Given the description of an element on the screen output the (x, y) to click on. 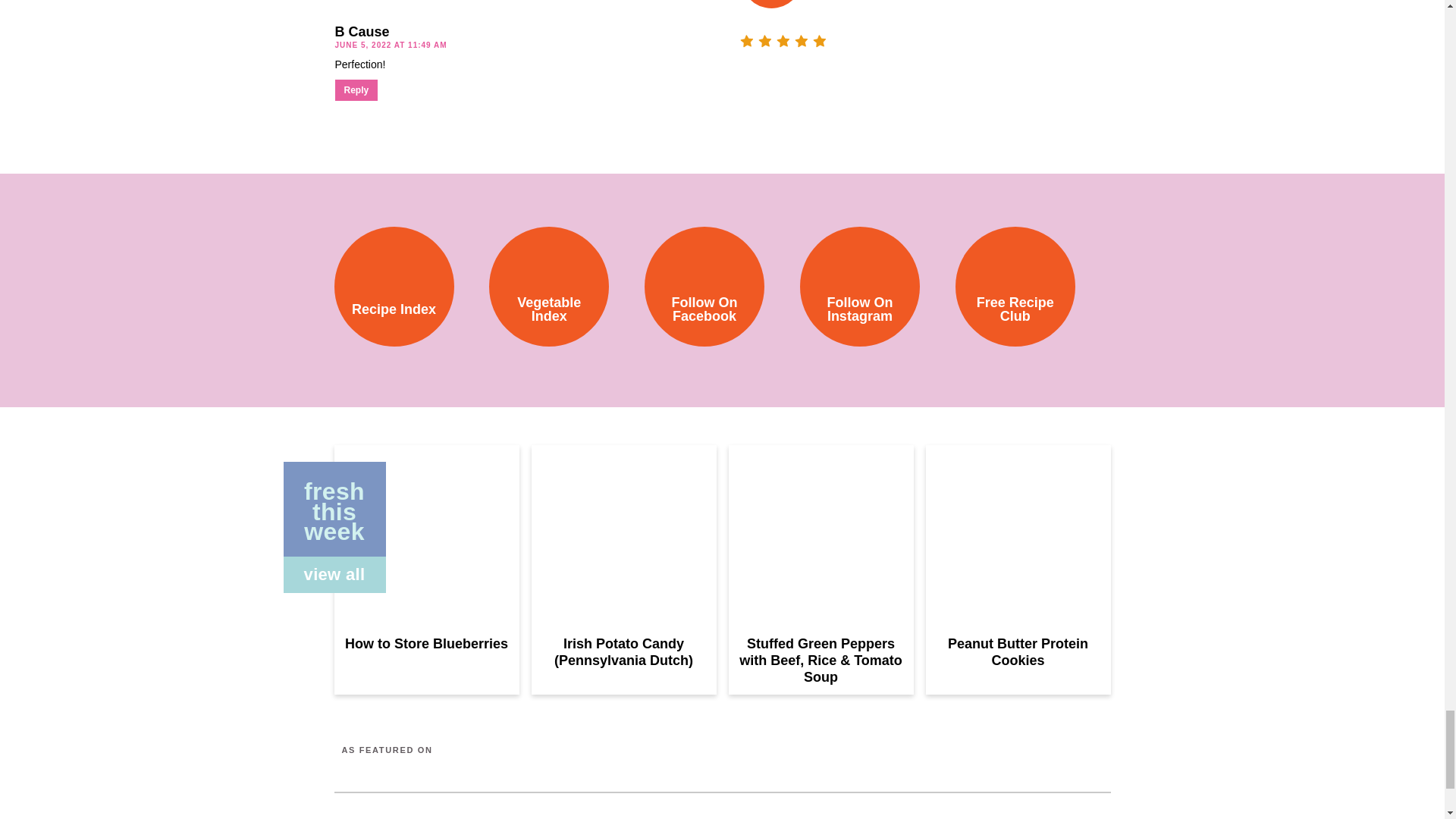
Submit (765, 1)
